Given the description of an element on the screen output the (x, y) to click on. 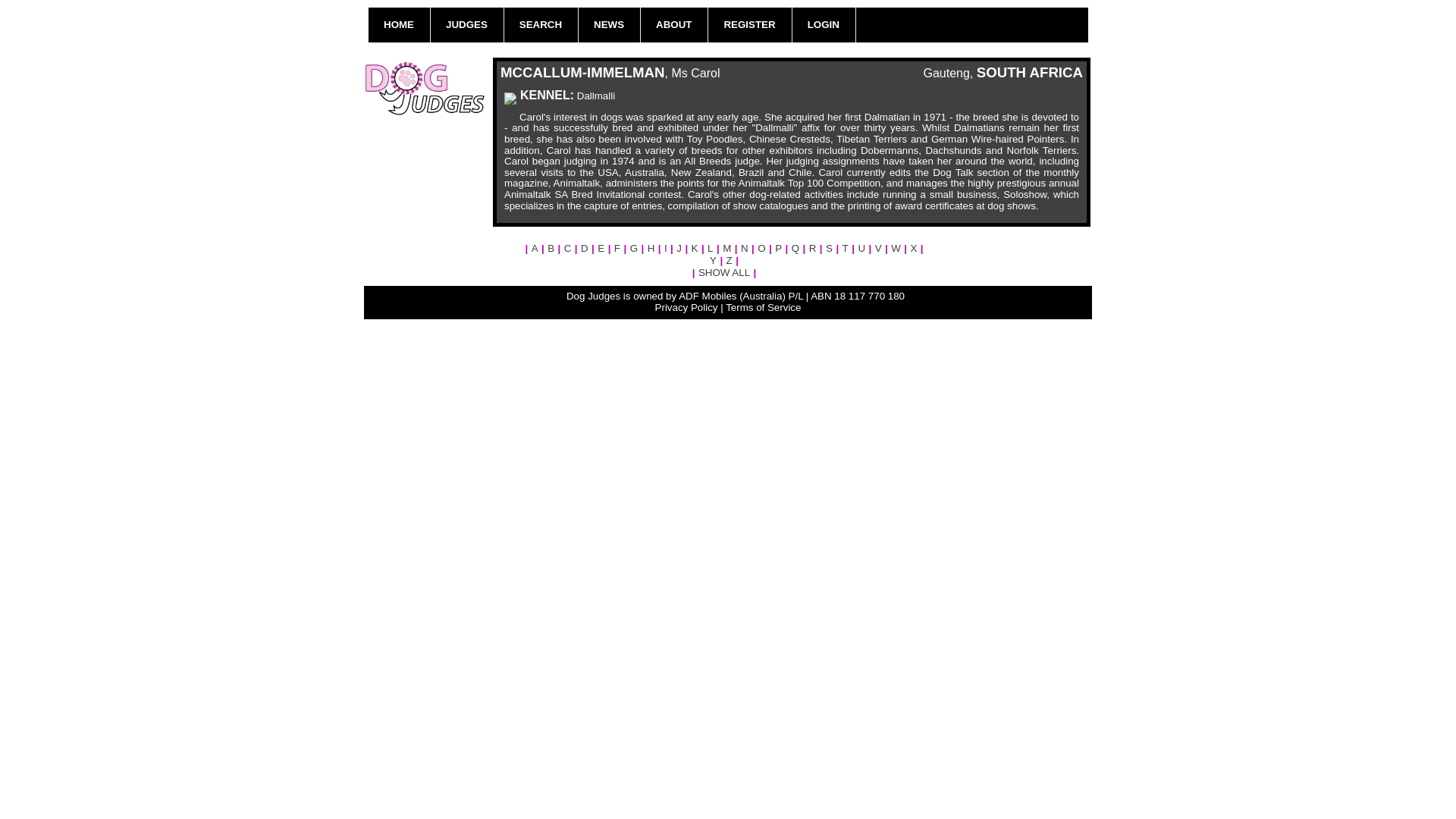
SEARCH (539, 24)
SHOW ALL (723, 272)
ABOUT (673, 24)
LOGIN (823, 24)
HOME (398, 24)
NEWS (608, 24)
REGISTER (748, 24)
JUDGES (466, 24)
